Given the description of an element on the screen output the (x, y) to click on. 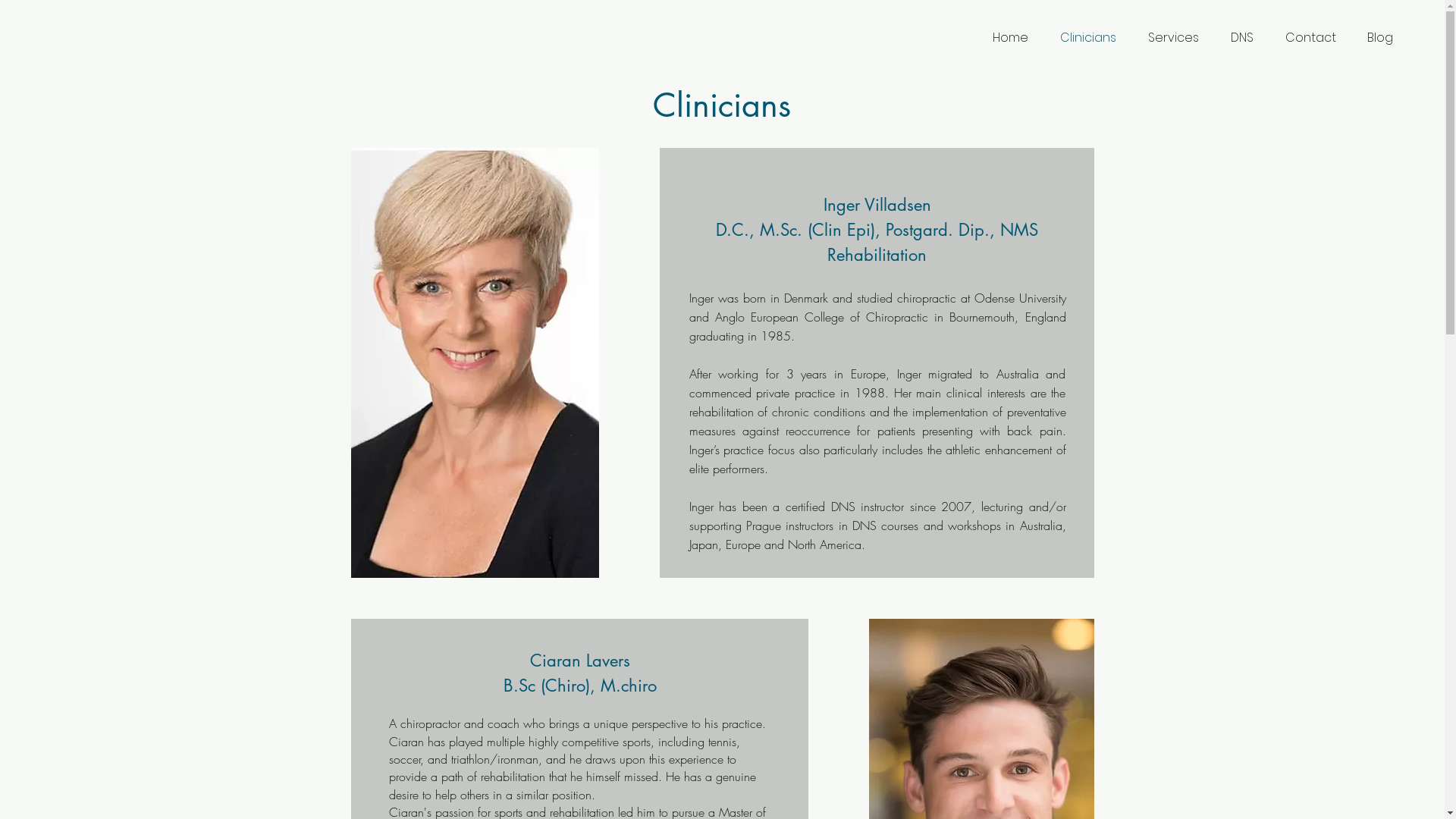
Home Element type: text (1010, 37)
Contact Element type: text (1310, 37)
Clinicians Element type: text (1088, 37)
DNS Element type: text (1241, 37)
Services Element type: text (1173, 37)
Blog Element type: text (1379, 37)
